Given the description of an element on the screen output the (x, y) to click on. 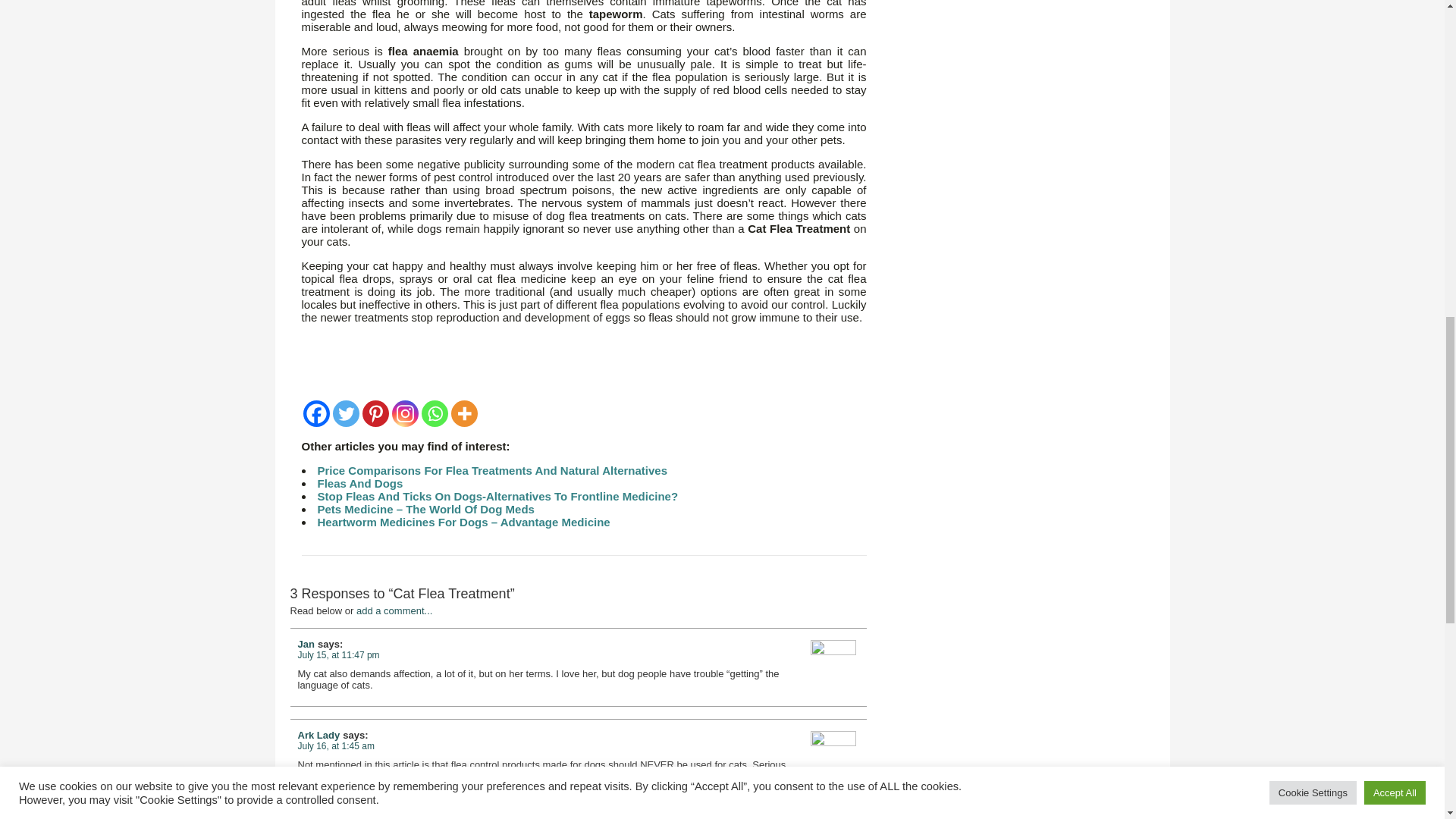
July 16, at 1:45 am (335, 746)
Pinterest (375, 413)
Whatsapp (435, 413)
More (463, 413)
Twitter (344, 413)
Fleas And Dogs (360, 482)
add a comment... (394, 610)
Jan (305, 644)
Ark Lady (318, 735)
Fleas And Dogs (360, 482)
Facebook (316, 413)
